Given the description of an element on the screen output the (x, y) to click on. 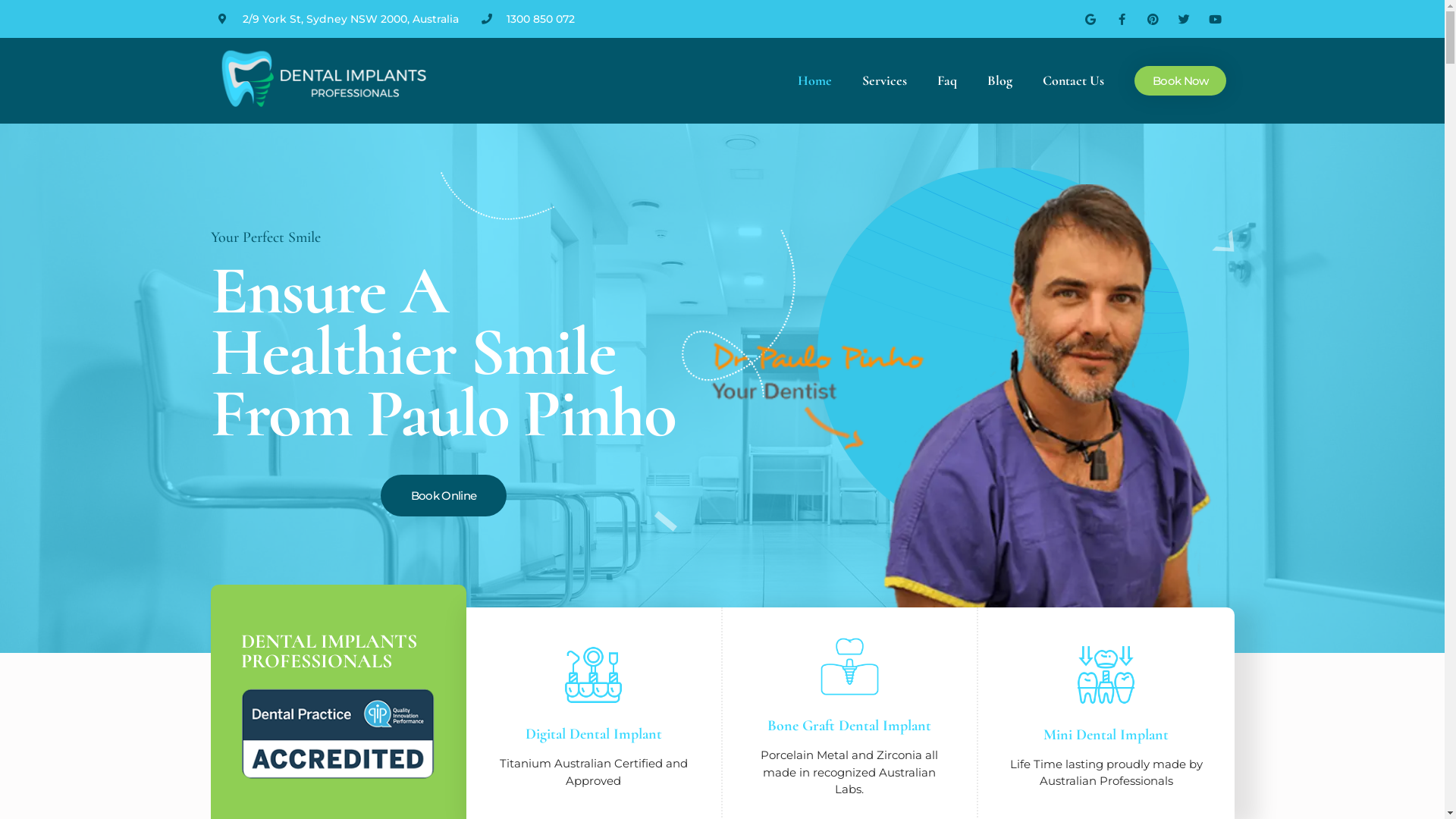
Blog Element type: text (999, 80)
Faq Element type: text (947, 80)
Book Now Element type: text (1180, 80)
Book Online Element type: text (443, 495)
Contact Us Element type: text (1073, 80)
Home Element type: text (814, 80)
Services Element type: text (884, 80)
1300 850 072 Element type: text (540, 18)
